Given the description of an element on the screen output the (x, y) to click on. 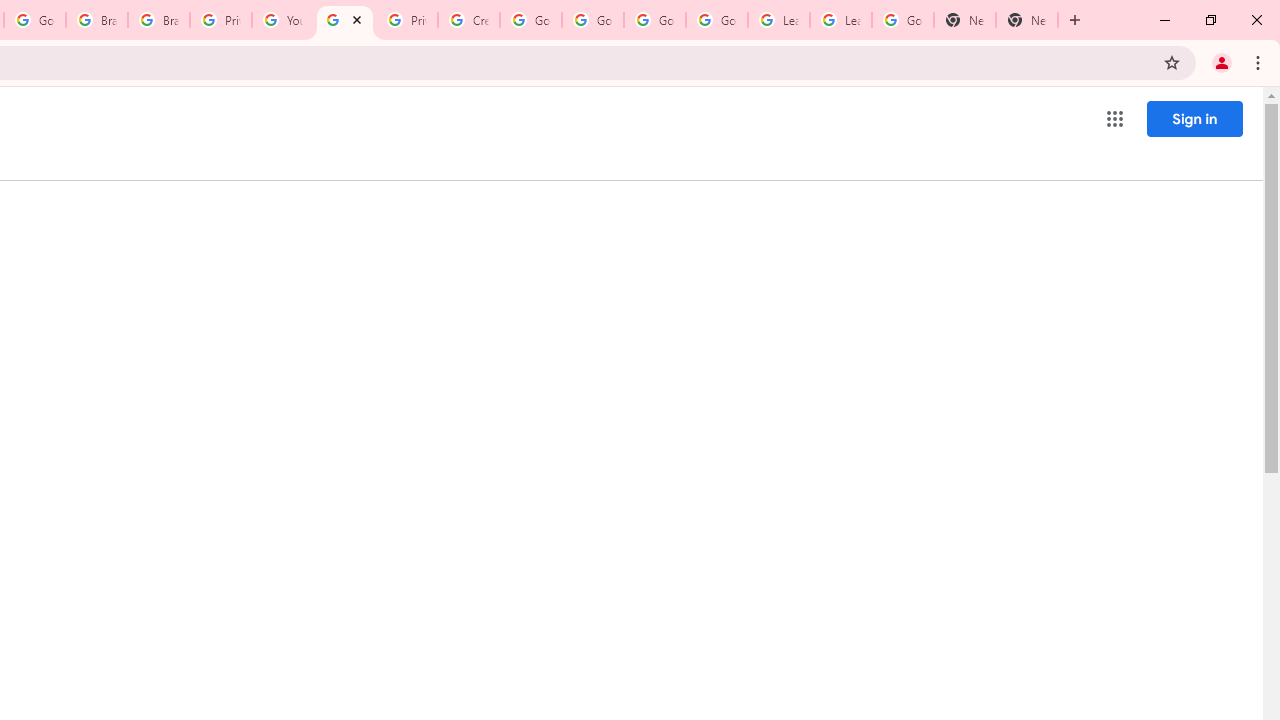
Brand Resource Center (96, 20)
YouTube (282, 20)
Google Account Help (654, 20)
New Tab (1026, 20)
New Tab (964, 20)
